Given the description of an element on the screen output the (x, y) to click on. 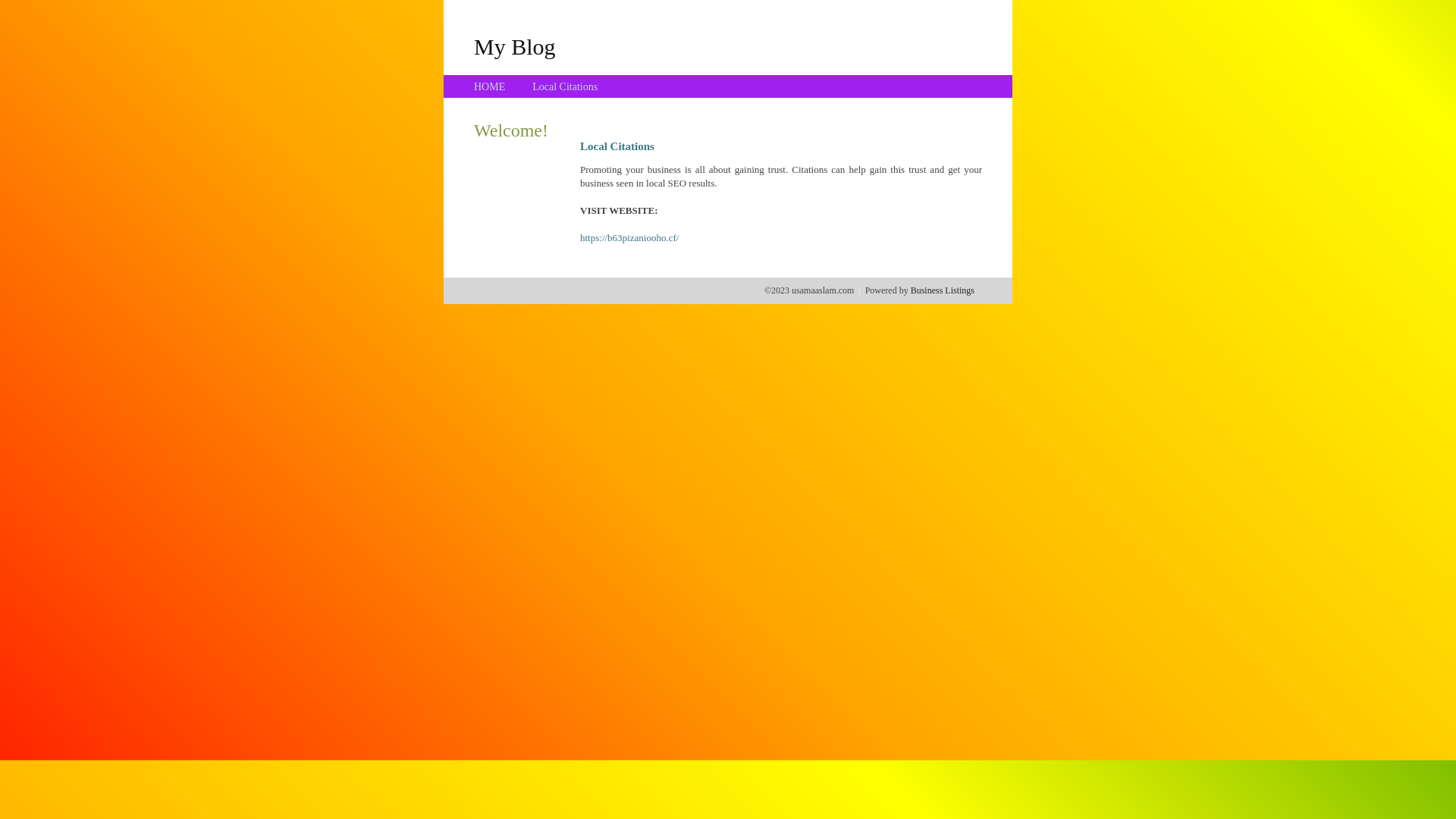
Local Citations Element type: text (564, 86)
My Blog Element type: text (514, 46)
Business Listings Element type: text (942, 290)
HOME Element type: text (489, 86)
https://b63pizaniooho.cf/ Element type: text (629, 237)
